Given the description of an element on the screen output the (x, y) to click on. 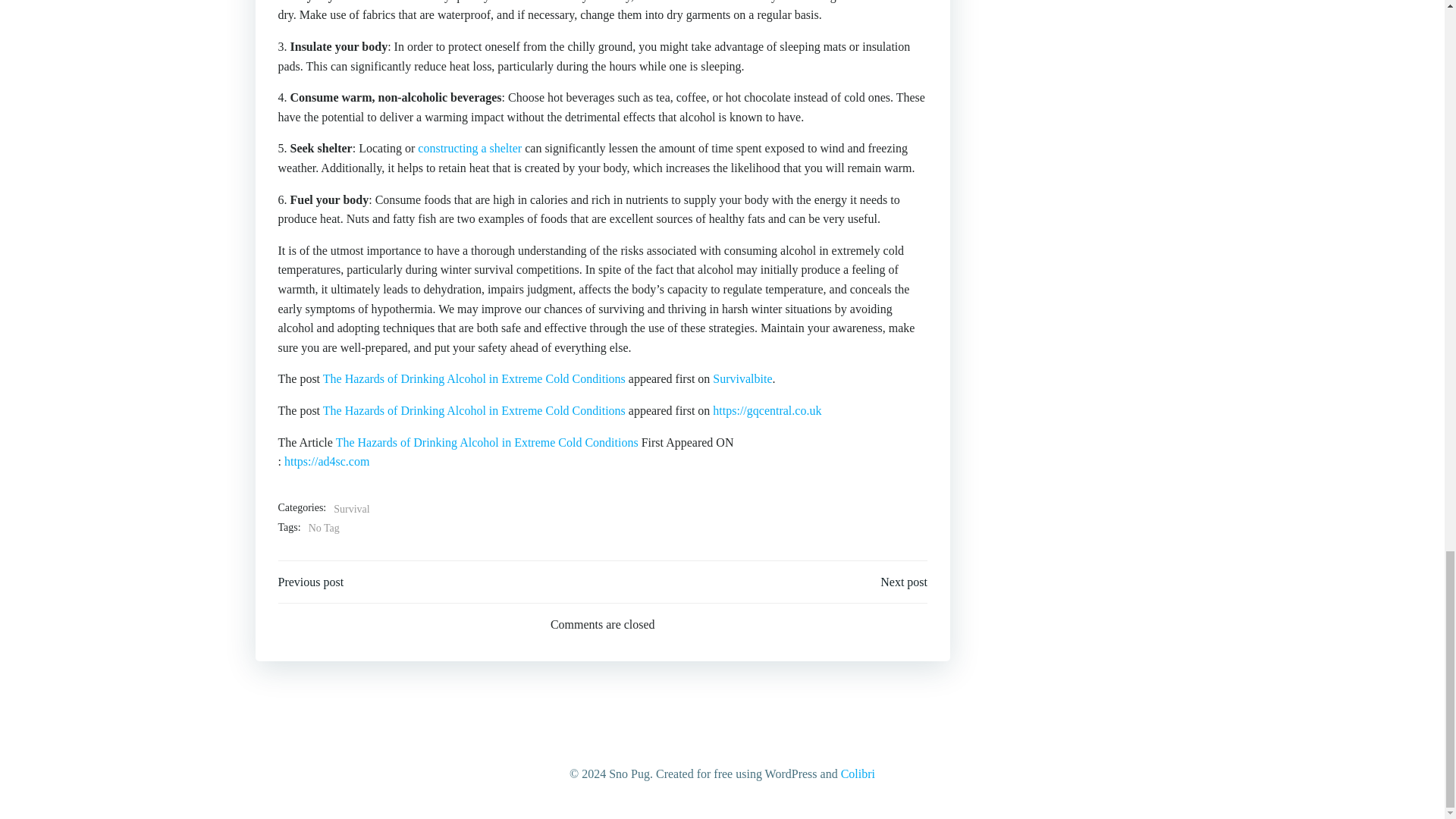
Survivalbite (742, 378)
Previous post (310, 582)
Next post (903, 582)
The Hazards of Drinking Alcohol in Extreme Cold Conditions (474, 378)
Survival (351, 509)
The Hazards of Drinking Alcohol in Extreme Cold Conditions (487, 441)
The Hazards of Drinking Alcohol in Extreme Cold Conditions (474, 410)
constructing a shelter (469, 147)
